Given the description of an element on the screen output the (x, y) to click on. 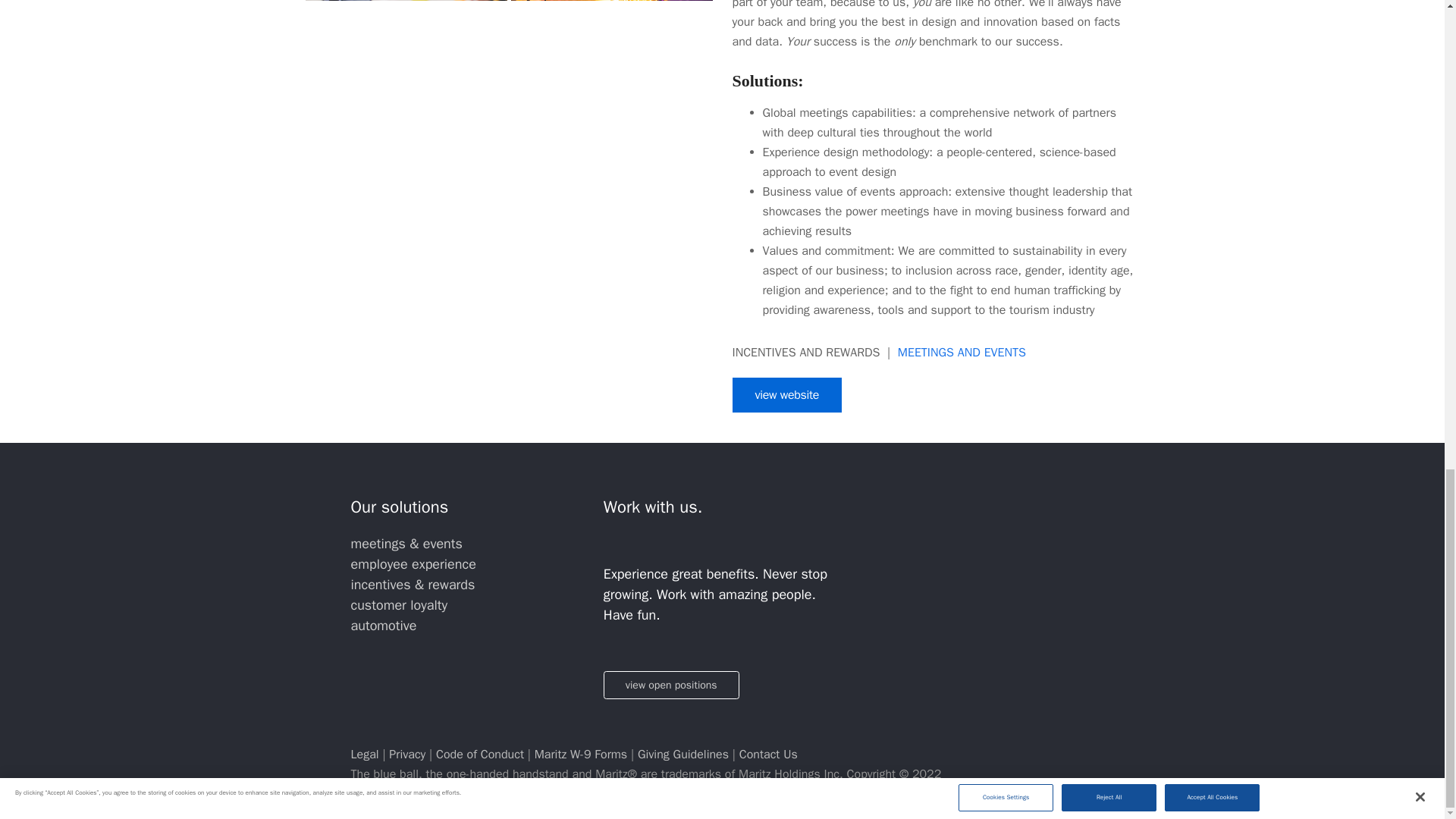
employee experience (413, 564)
view open positions (671, 684)
Contact Us (768, 754)
Code of Conduct (479, 754)
customer loyalty (398, 605)
view website (787, 394)
Maritz W-9 Forms (582, 754)
Legal (365, 754)
Giving Guidelines (683, 754)
Privacy (406, 754)
MEETINGS AND EVENTS (962, 352)
automotive (383, 625)
